Given the description of an element on the screen output the (x, y) to click on. 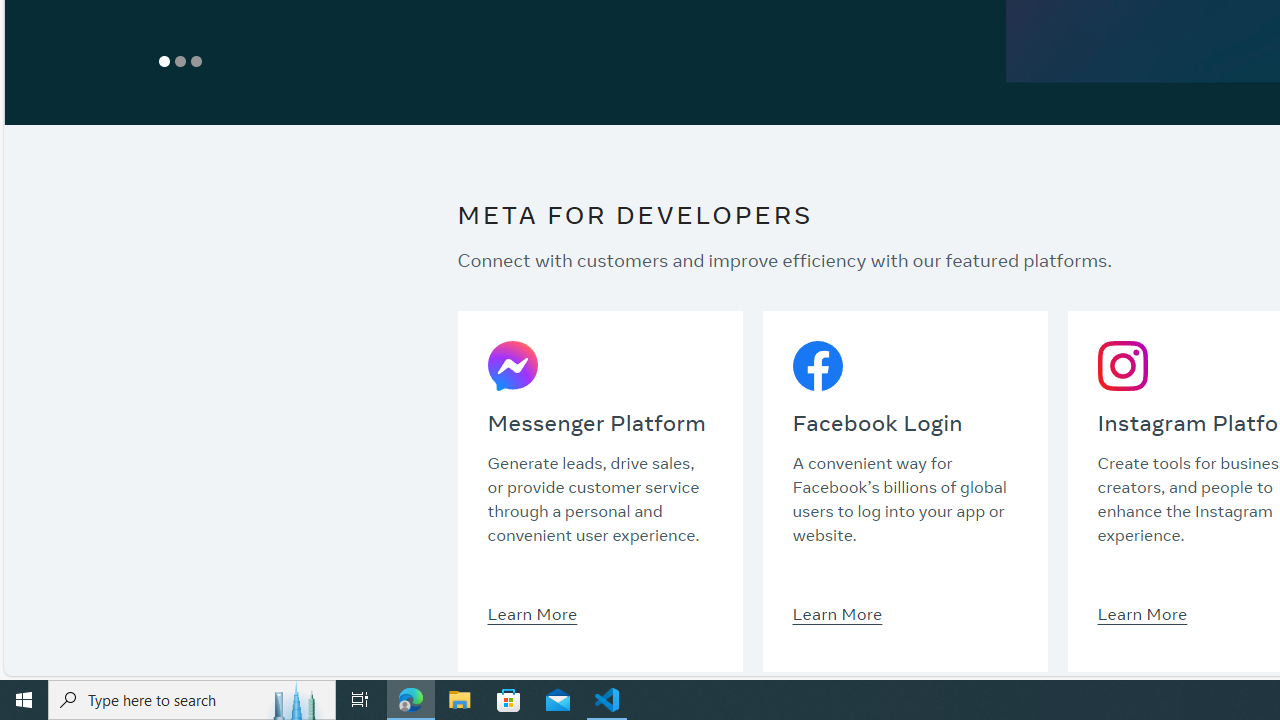
Show Slide 1 (164, 61)
Show Slide 3 (196, 61)
Learn More (1141, 613)
Show Slide 2 (180, 61)
